Given the description of an element on the screen output the (x, y) to click on. 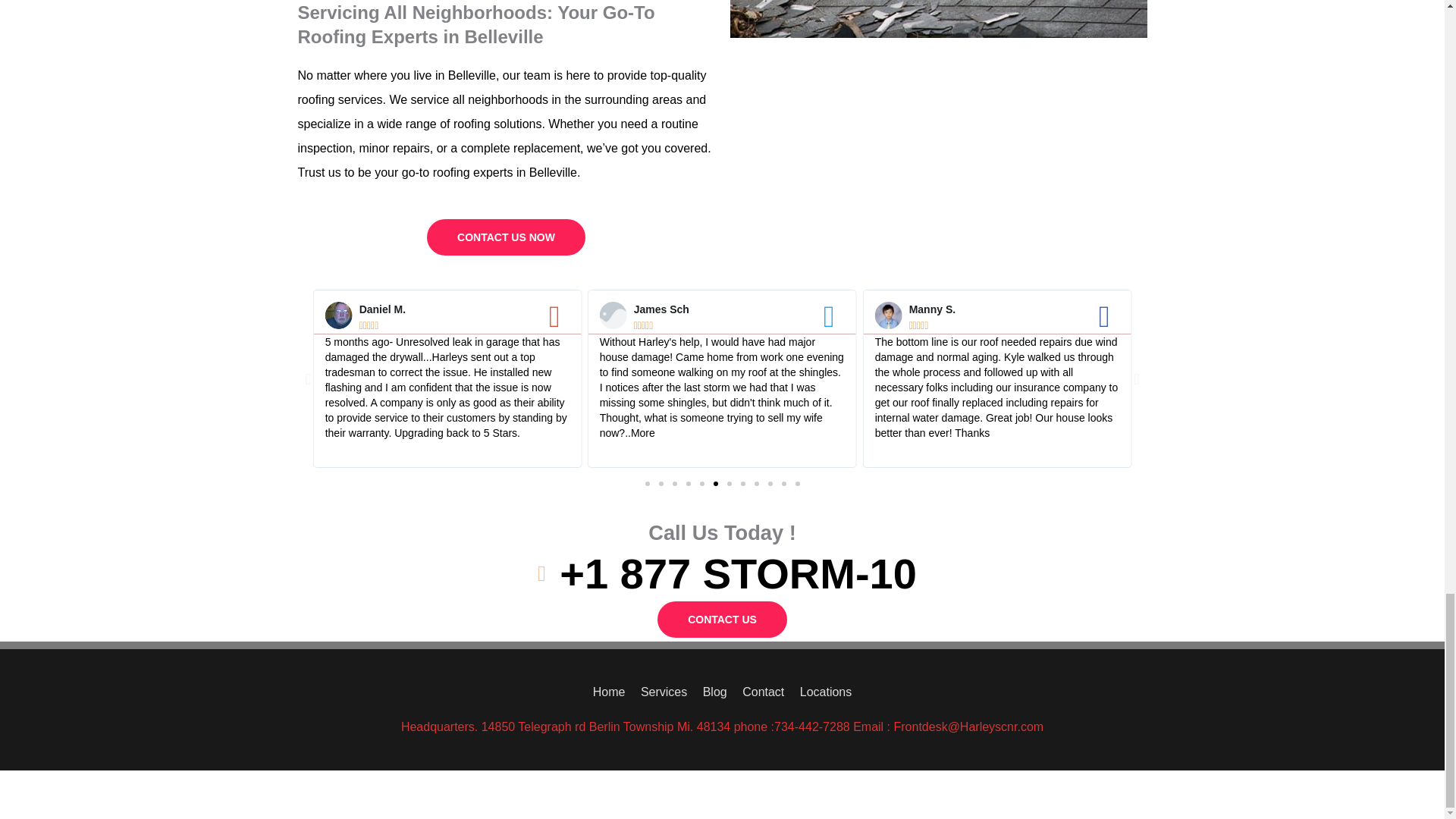
Belleville  Mi (938, 166)
